Given the description of an element on the screen output the (x, y) to click on. 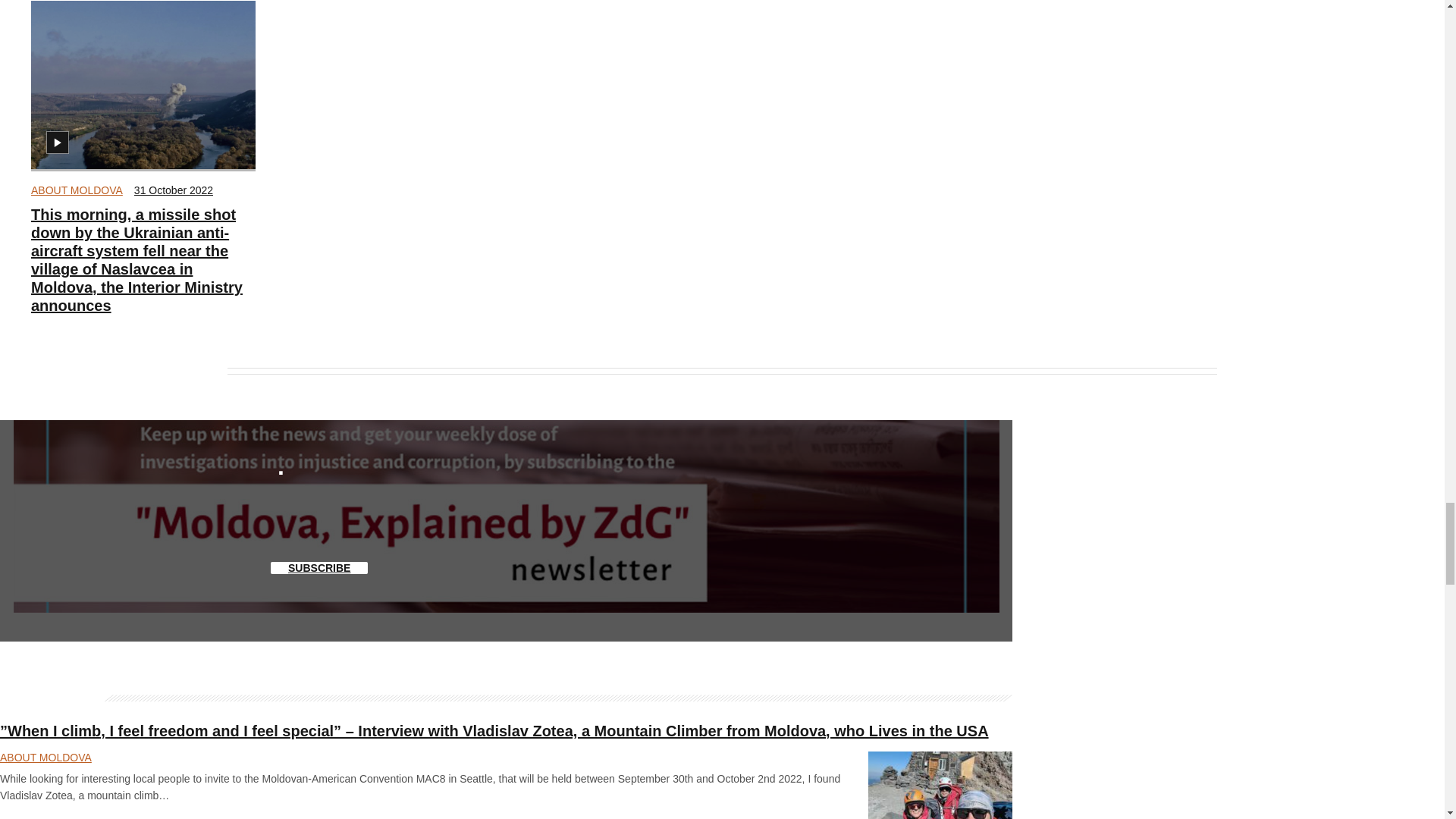
ABOUT MOLDOVA (76, 190)
